Given the description of an element on the screen output the (x, y) to click on. 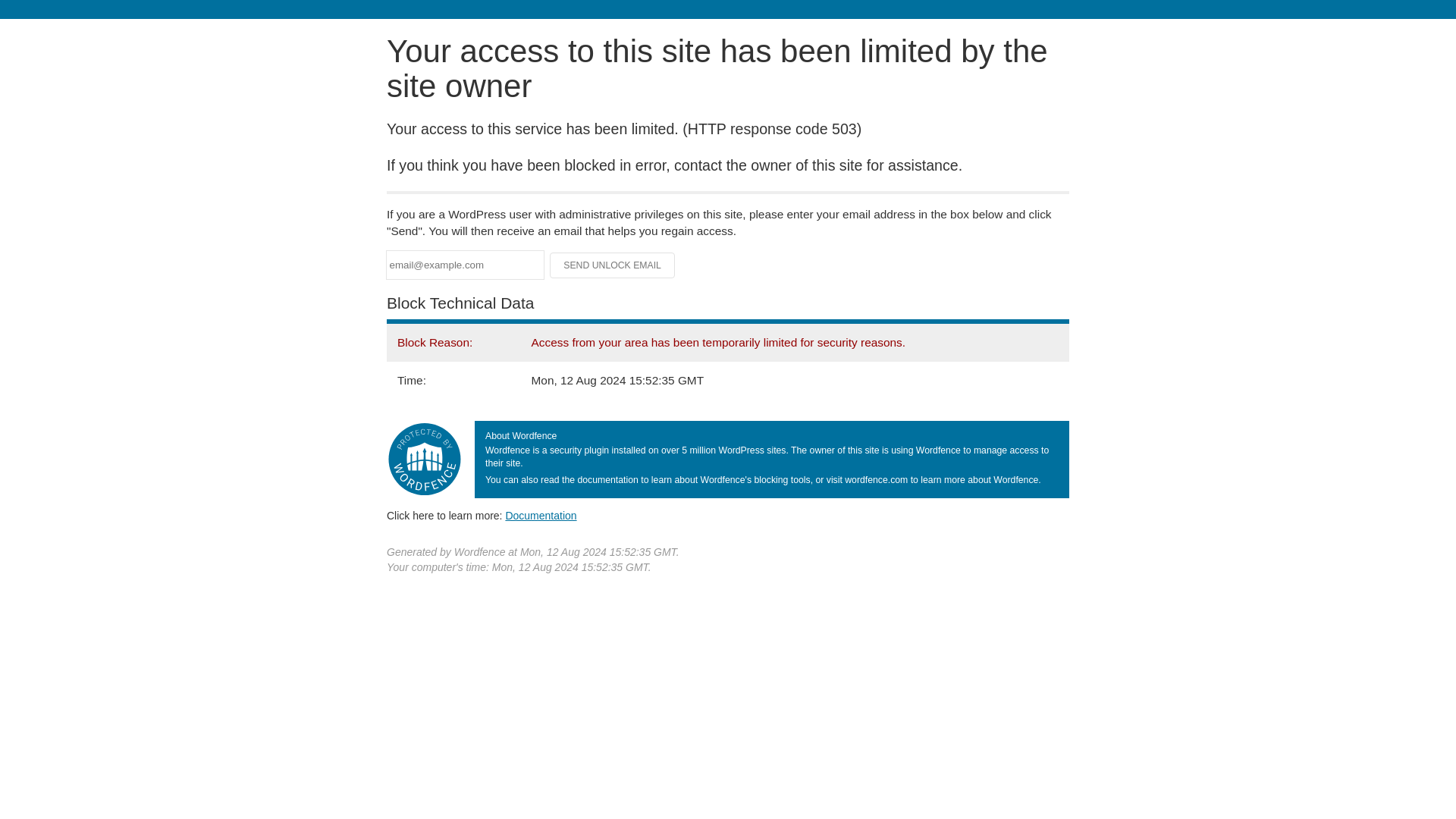
Send Unlock Email (612, 265)
Send Unlock Email (612, 265)
Documentation (540, 515)
